Given the description of an element on the screen output the (x, y) to click on. 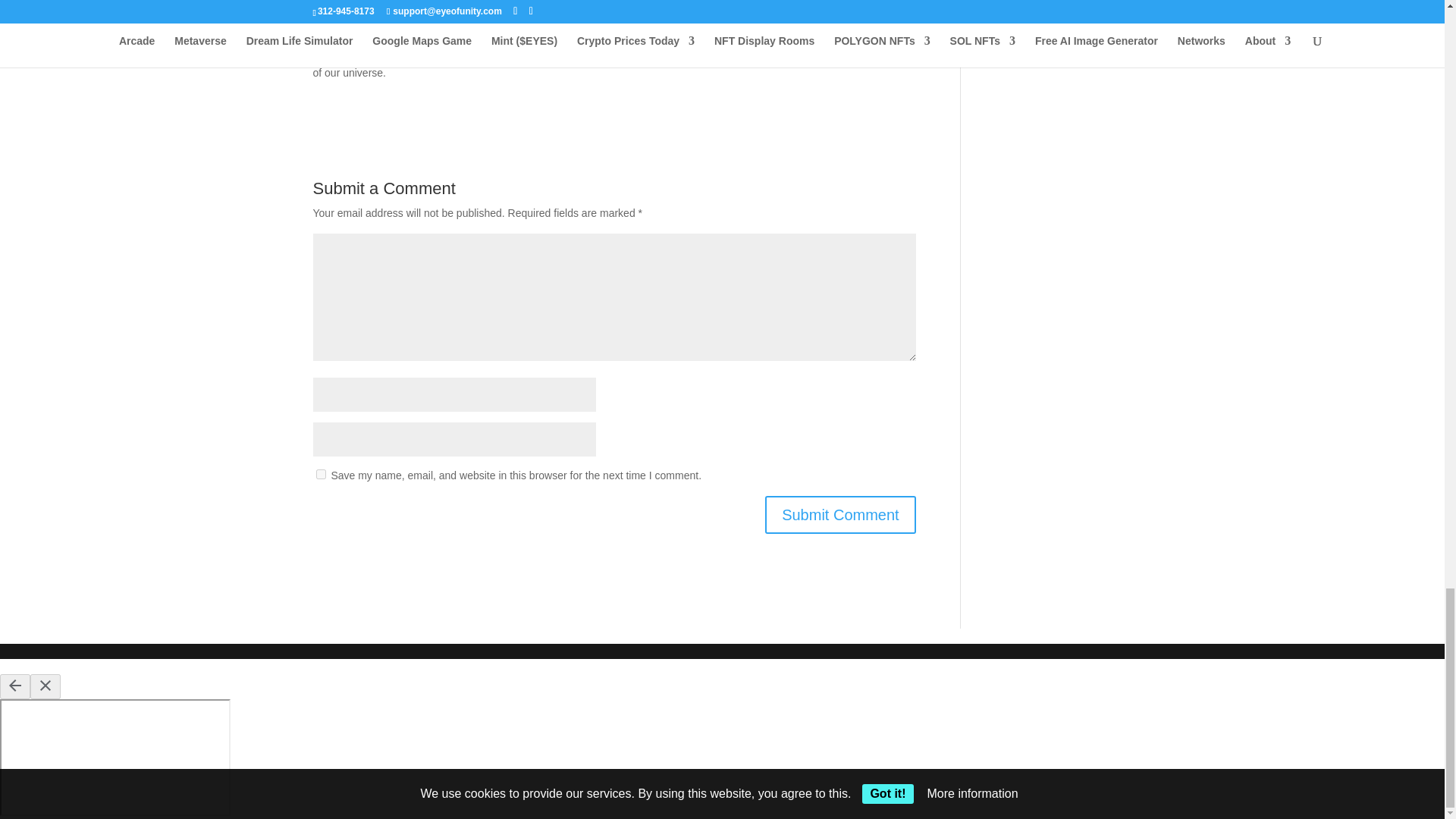
yes (319, 474)
Submit Comment (840, 514)
